Given the description of an element on the screen output the (x, y) to click on. 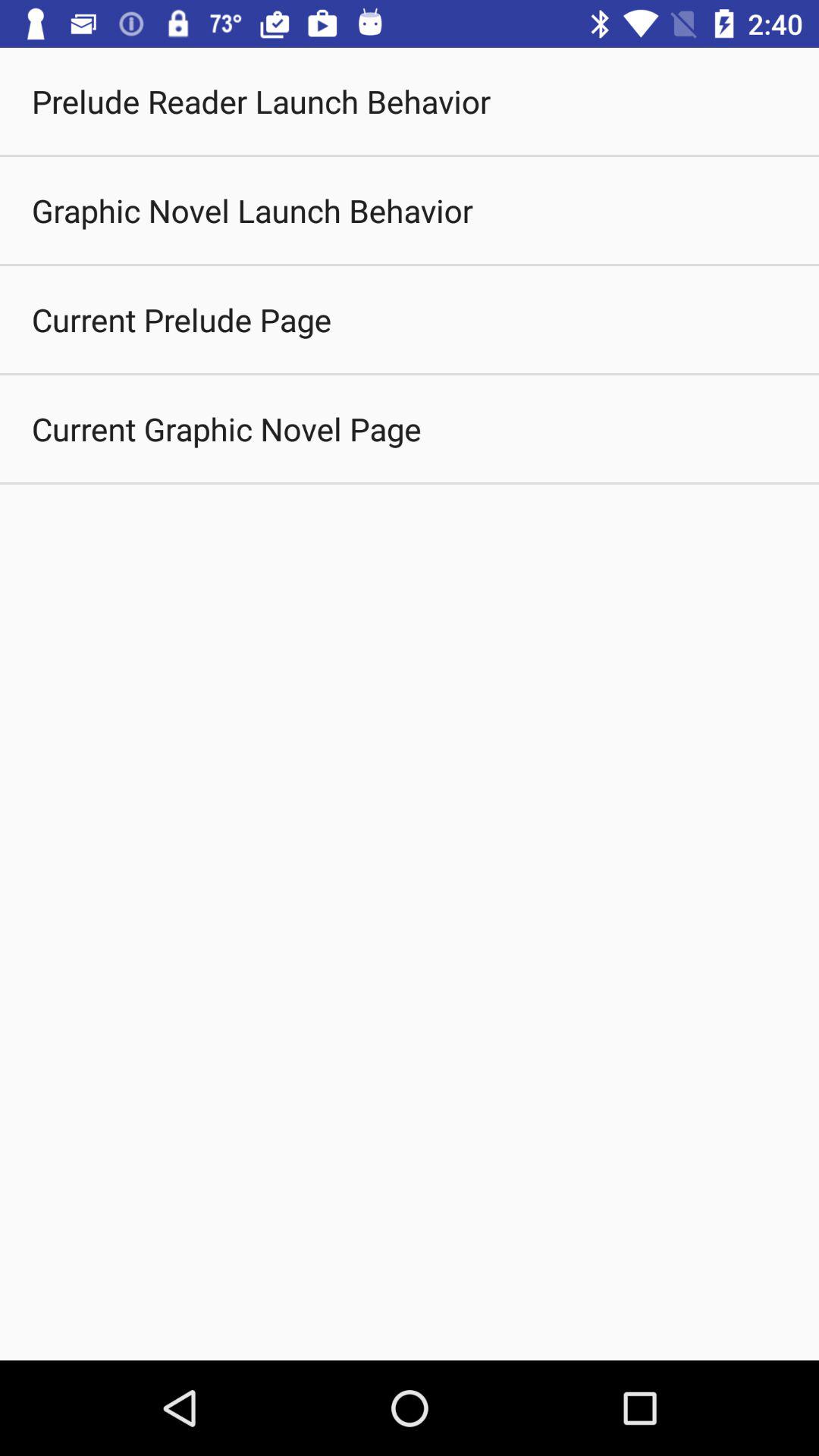
select the item above graphic novel launch icon (260, 100)
